Given the description of an element on the screen output the (x, y) to click on. 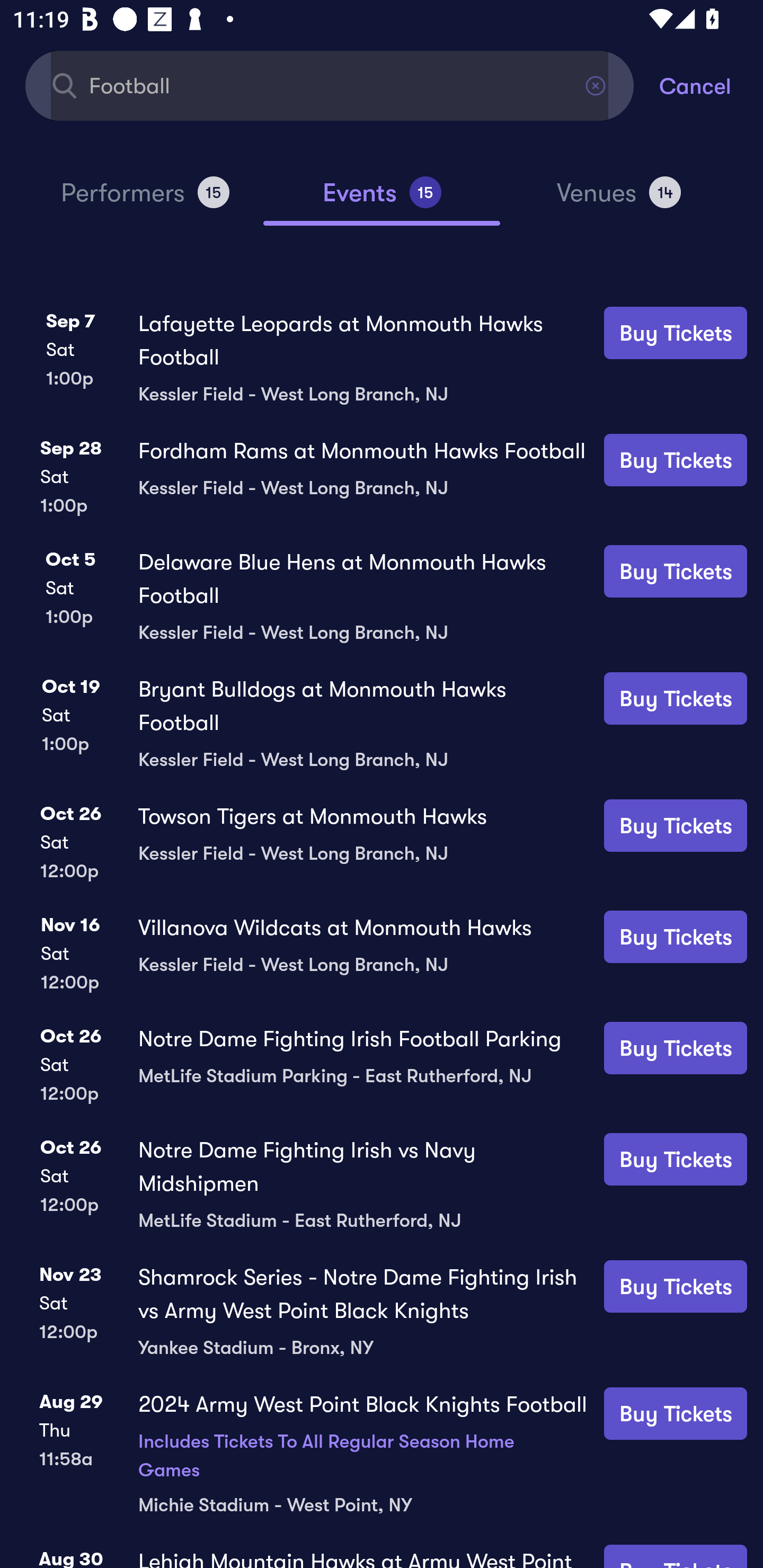
Football Find (329, 85)
Football Find (329, 85)
Cancel (711, 85)
Performers 15 (144, 200)
Events 15 (381, 200)
Venues 14 (618, 200)
